Given the description of an element on the screen output the (x, y) to click on. 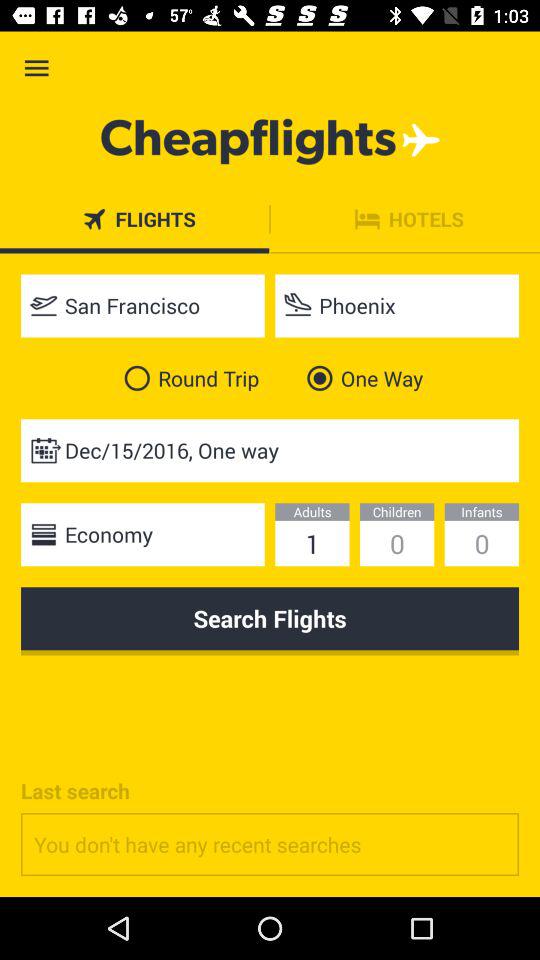
turn off icon to the left of the phoenix (142, 305)
